Given the description of an element on the screen output the (x, y) to click on. 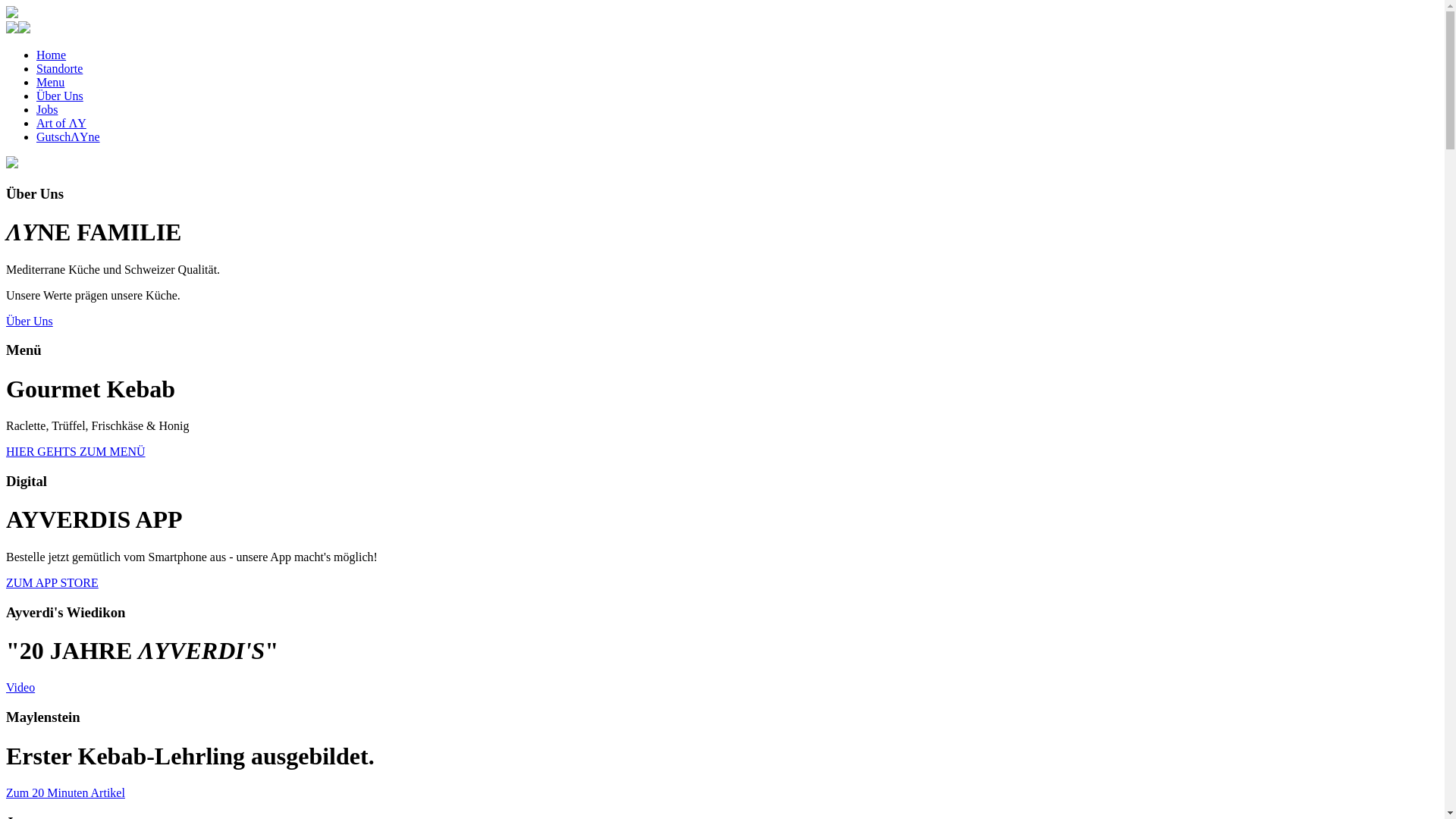
Standorte Element type: text (59, 68)
ZUM APP STORE Element type: text (52, 582)
Home Element type: text (50, 54)
Menu Element type: text (50, 81)
Jobs Element type: text (46, 109)
Zum 20 Minuten Artikel Element type: text (65, 792)
Video Element type: text (20, 686)
